Given the description of an element on the screen output the (x, y) to click on. 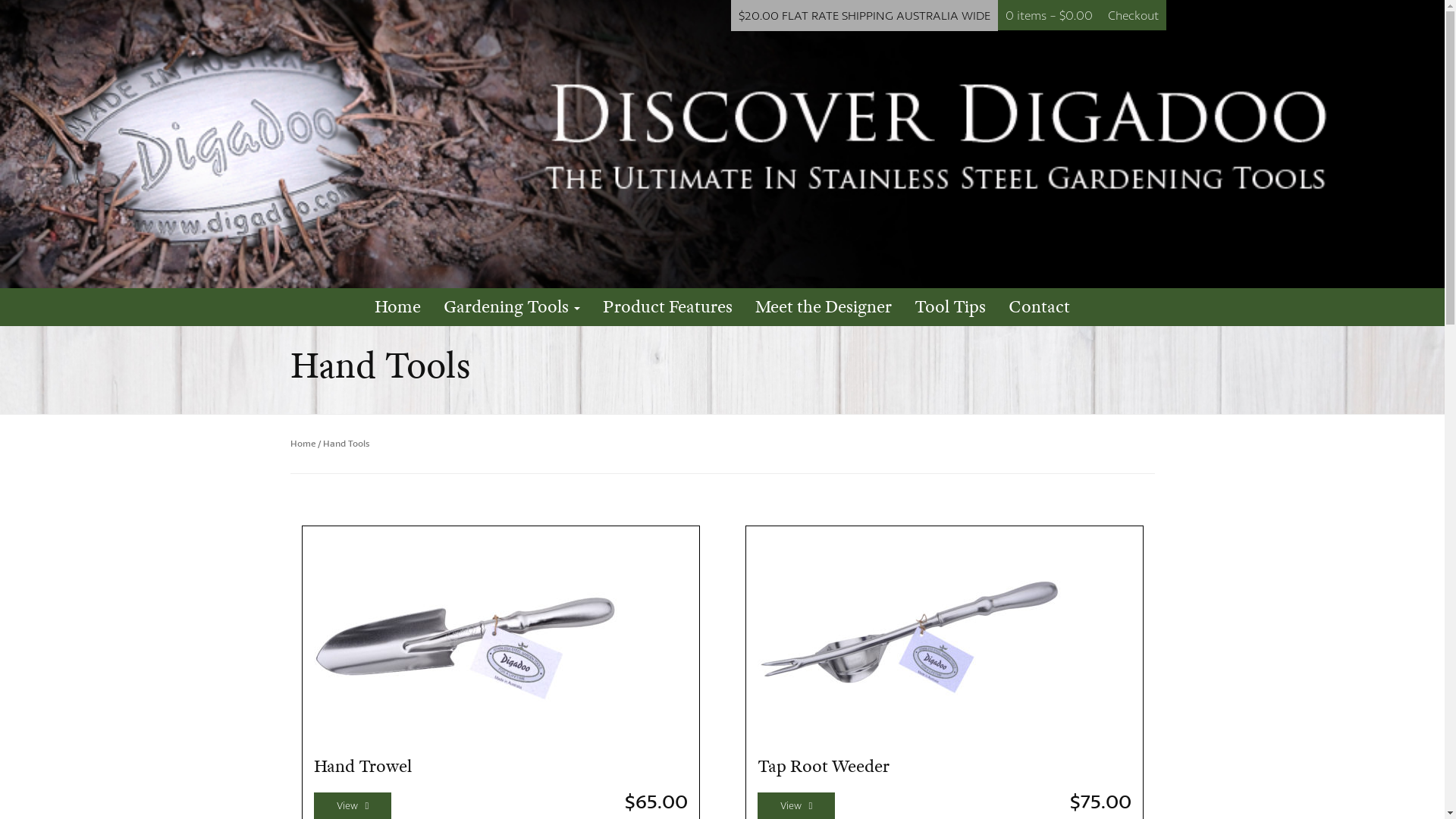
Home Element type: text (397, 307)
Tap Root Weeder
$75.00 Element type: text (943, 674)
Gardening Tools Element type: text (511, 307)
Tool Tips Element type: text (950, 307)
Home Element type: text (301, 442)
Meet the Designer Element type: text (823, 307)
Hand Trowel
$65.00 Element type: text (500, 674)
Contact Element type: text (1039, 307)
Product Features Element type: text (667, 307)
